Given the description of an element on the screen output the (x, y) to click on. 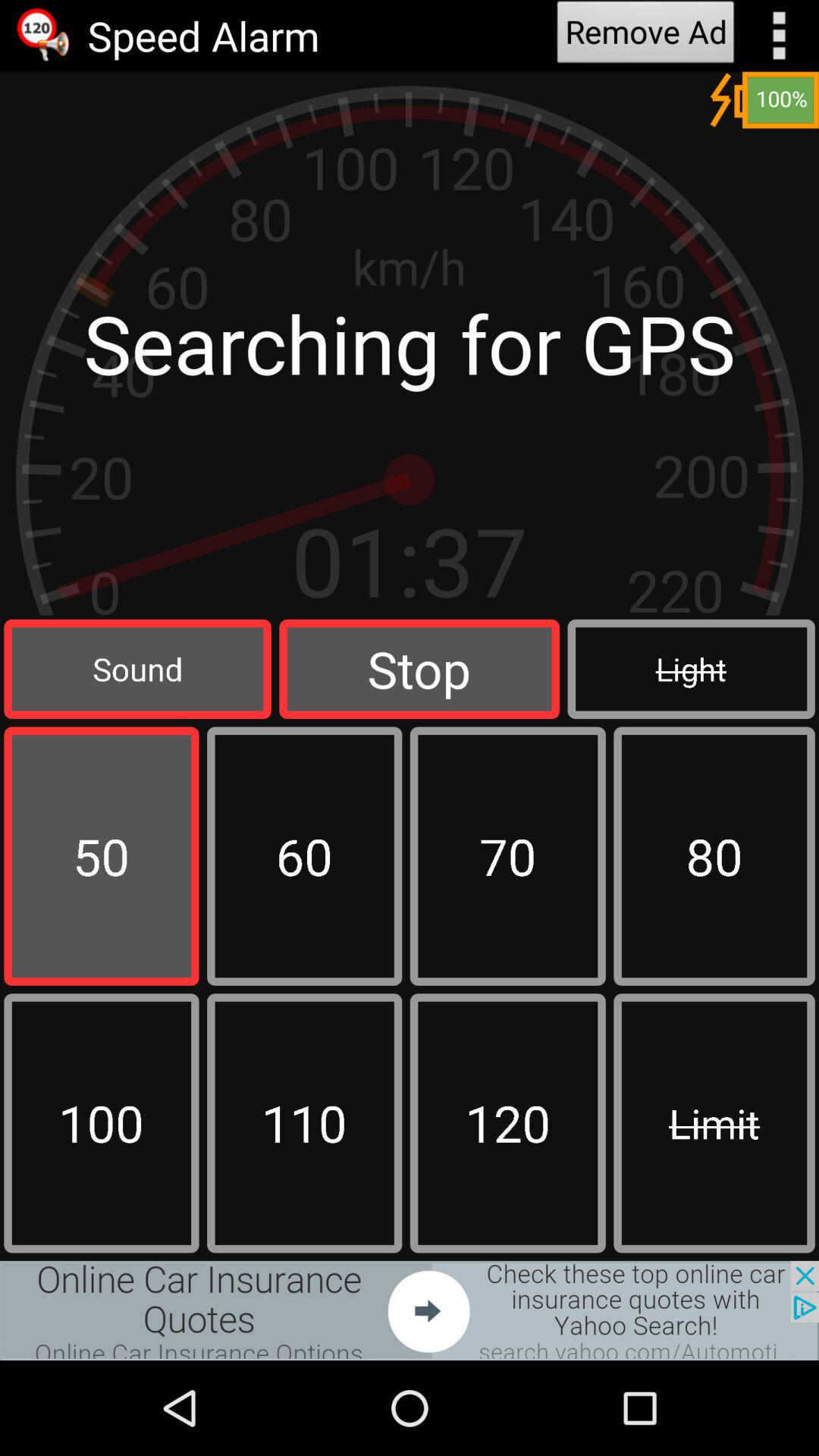
open advertisement (409, 1310)
